Given the description of an element on the screen output the (x, y) to click on. 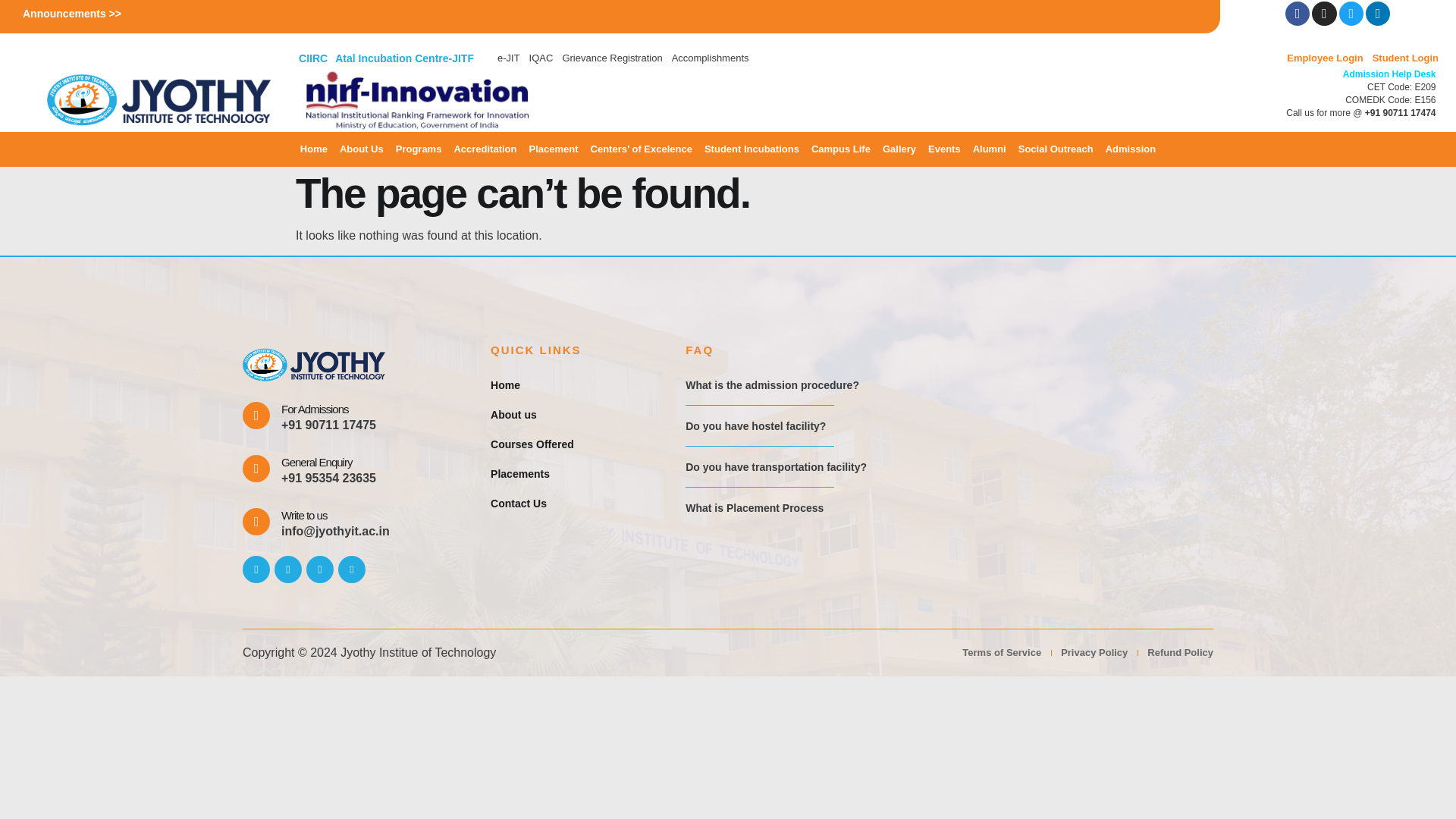
Accreditation (484, 149)
About Us (361, 149)
Accomplishments (710, 58)
Home (313, 149)
e-JIT (508, 58)
Grievance Registration (611, 58)
Atal Incubation Centre-JITF (404, 58)
Programs (419, 149)
Employee Login (1324, 58)
